Given the description of an element on the screen output the (x, y) to click on. 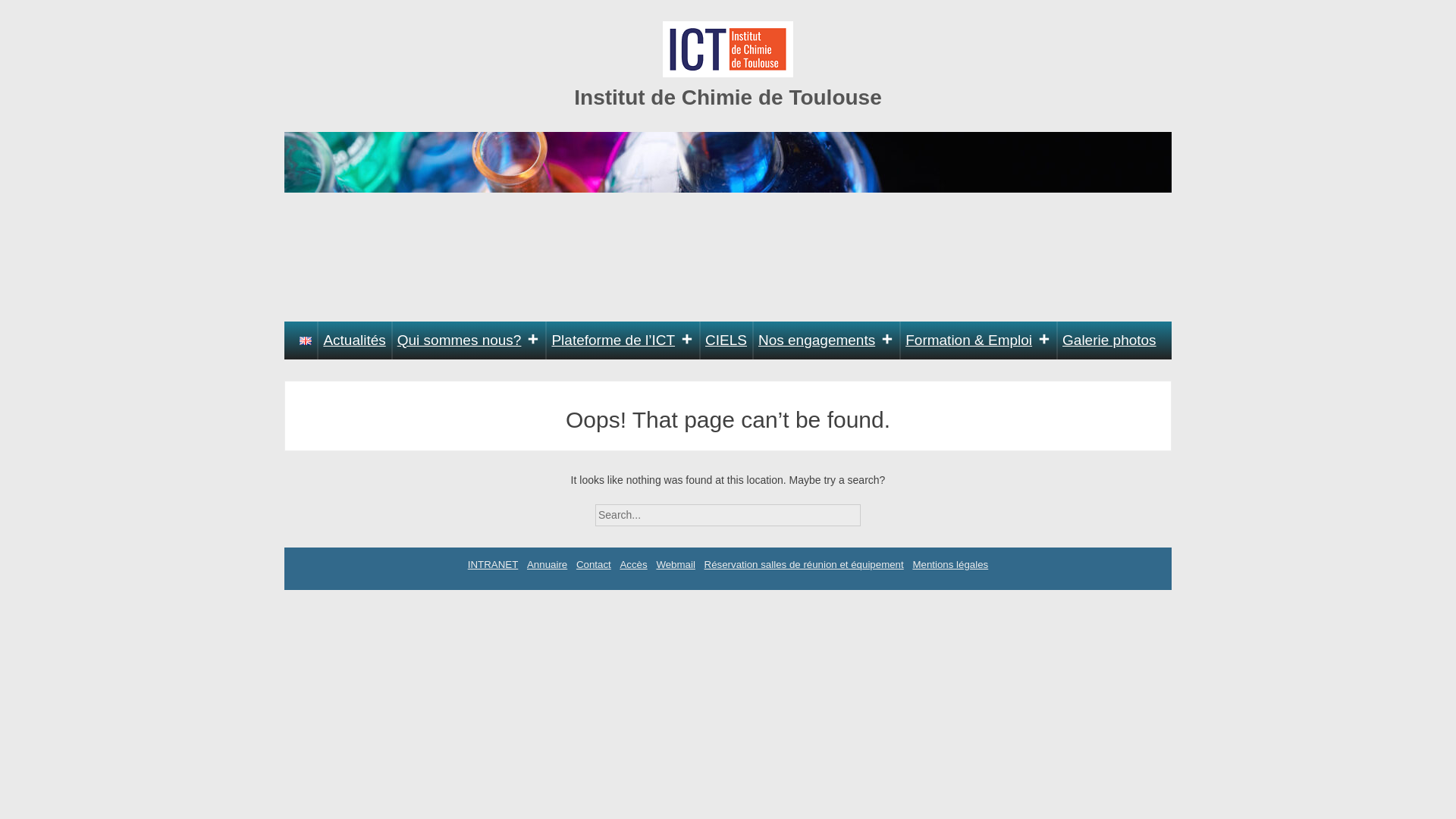
Search (873, 509)
Institut de Chimie de Toulouse (727, 97)
Qui sommes nous? (468, 340)
CIELS (726, 340)
Nos engagements (825, 340)
Search (873, 509)
